Given the description of an element on the screen output the (x, y) to click on. 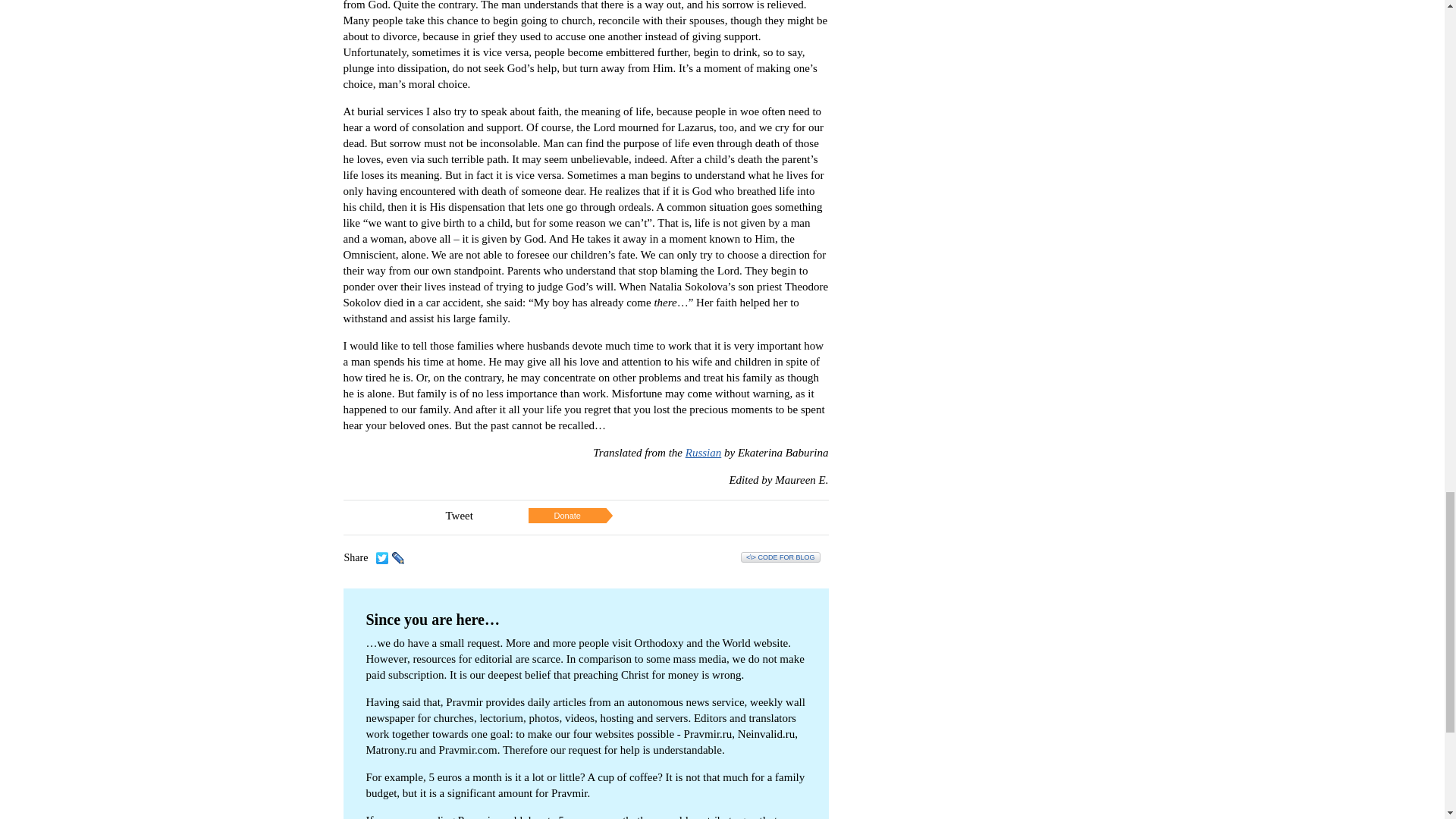
LiveJournal (398, 557)
Twitter (382, 557)
